Given the description of an element on the screen output the (x, y) to click on. 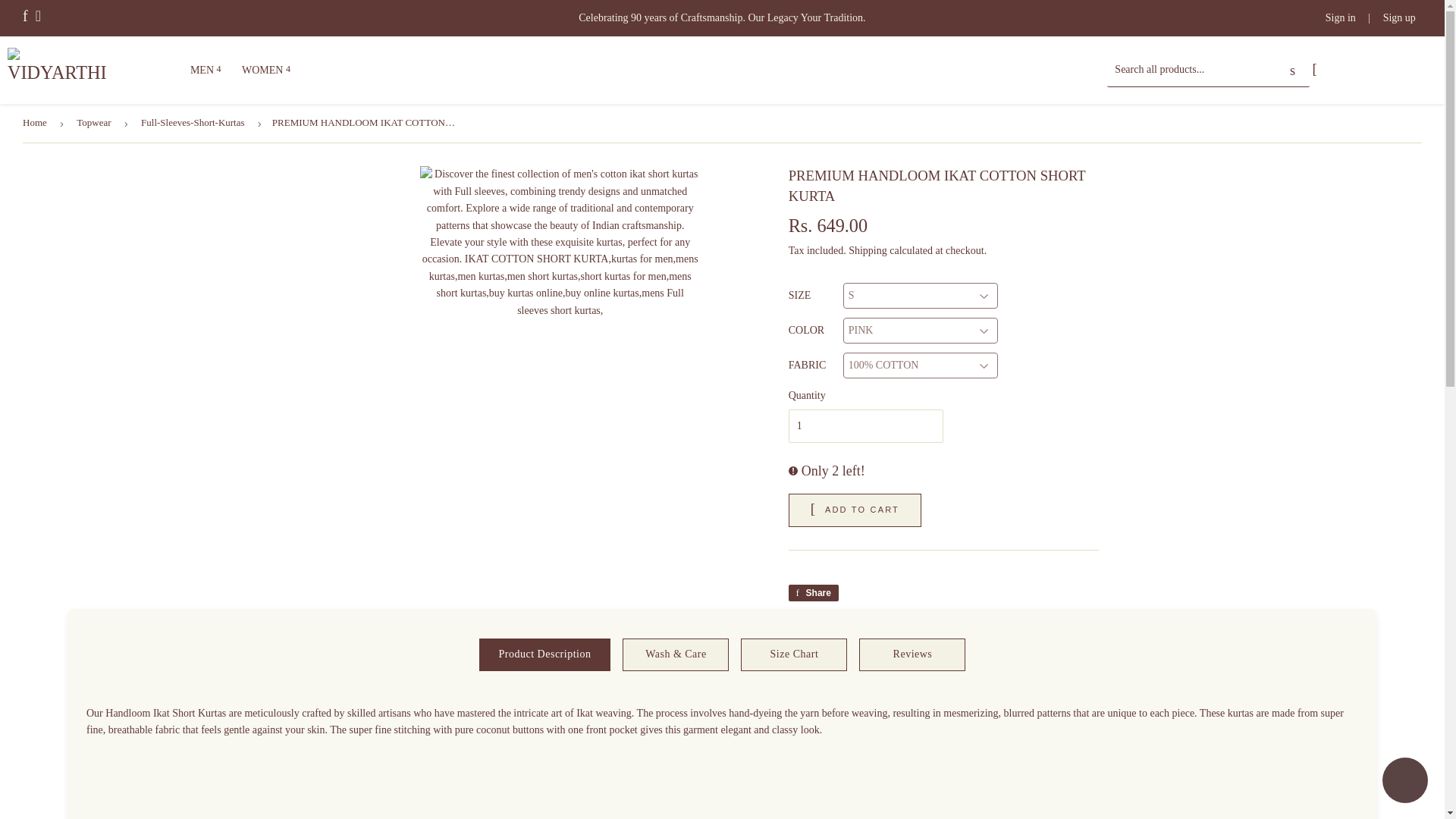
Sign in (1339, 17)
WOMEN (265, 70)
Sign up (1399, 17)
Share on Facebook (813, 592)
1 (866, 426)
Shopify online store chat (1404, 781)
